Given the description of an element on the screen output the (x, y) to click on. 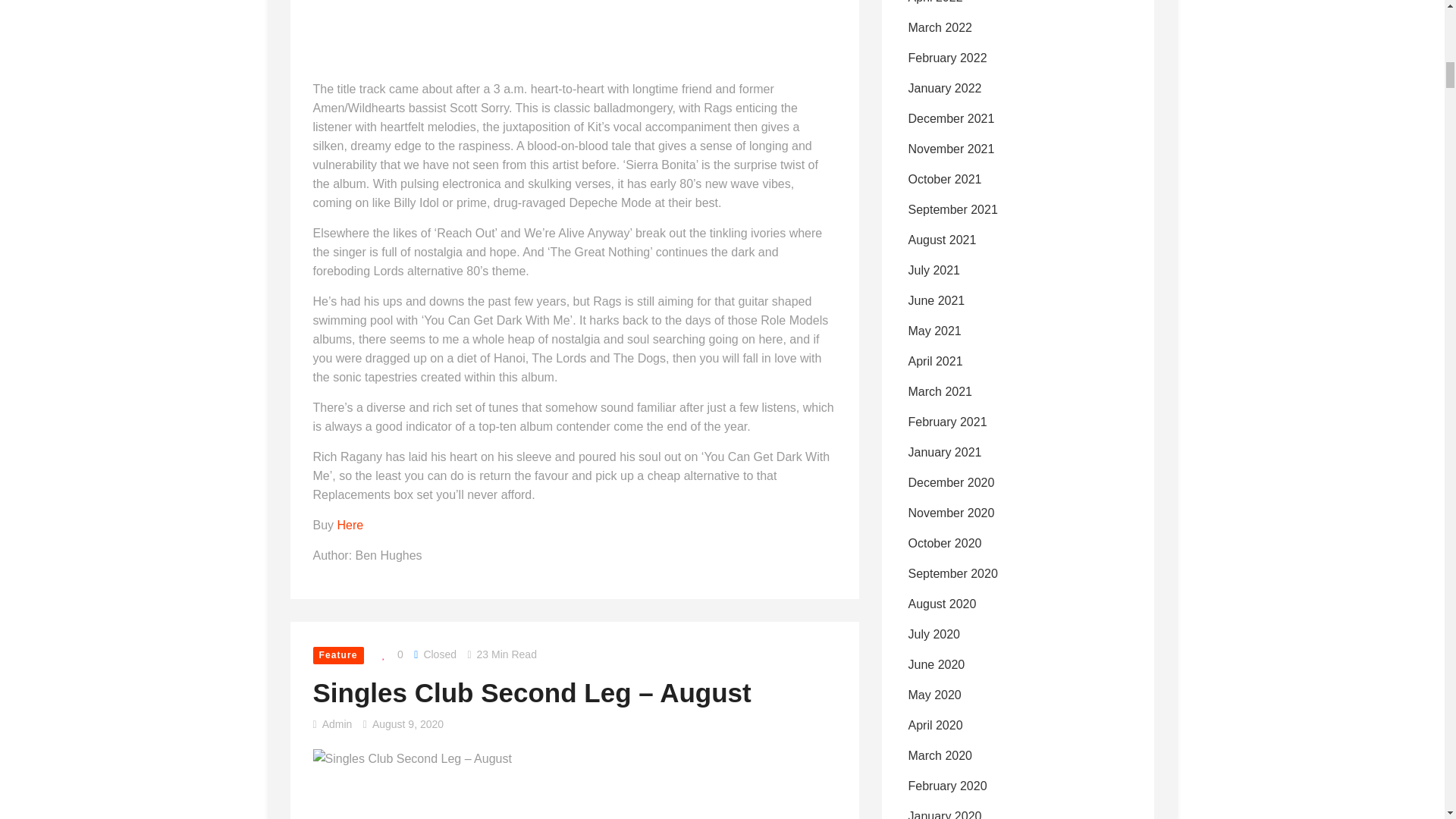
Like this (388, 654)
